Given the description of an element on the screen output the (x, y) to click on. 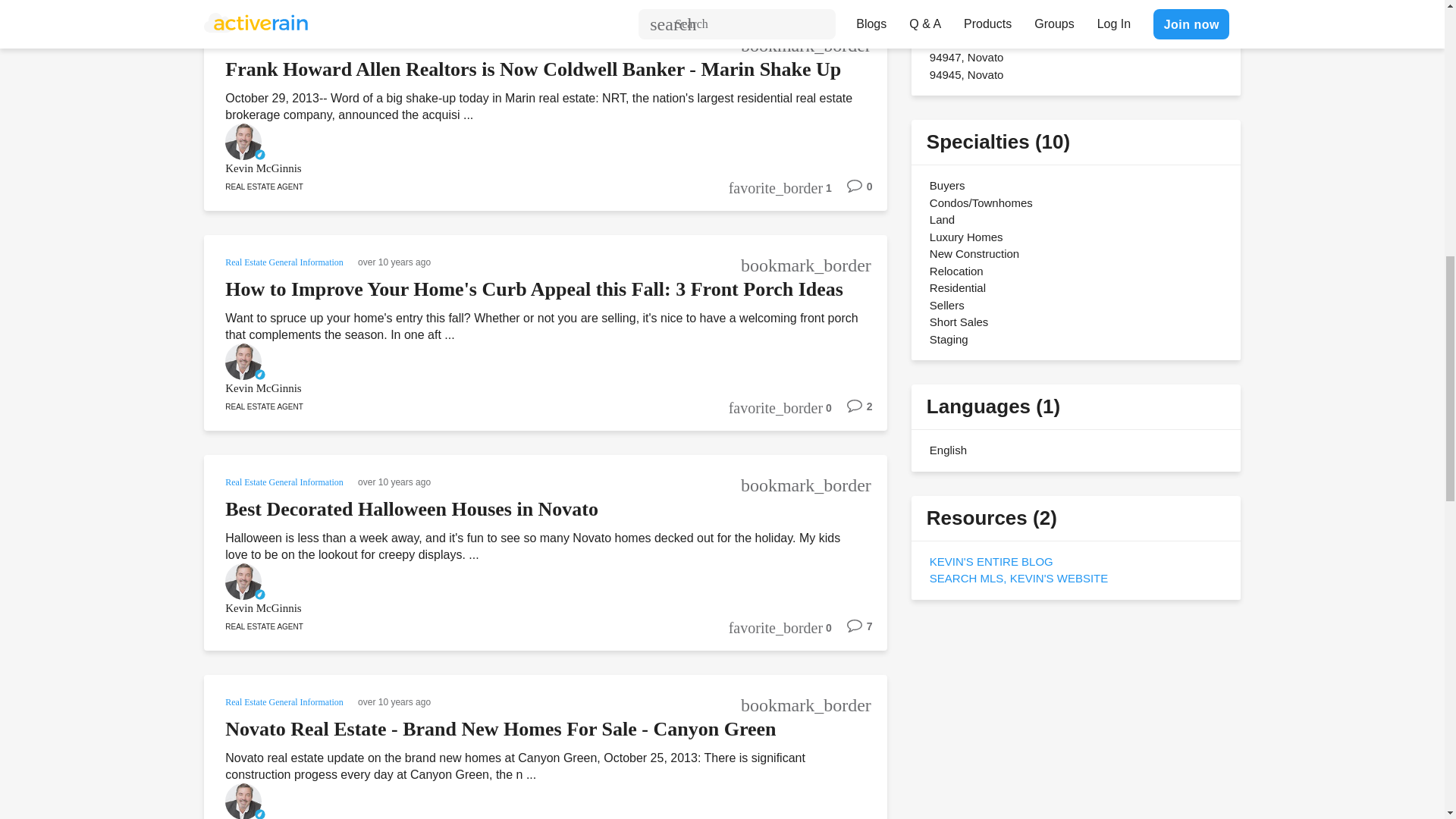
Real Estate General Information (285, 260)
Search MLS, Kevin's Website (1019, 577)
Kevin McGinnis (525, 168)
Real Estate General Information (285, 41)
0 (851, 191)
Kevin's Entire Blog (991, 561)
